Given the description of an element on the screen output the (x, y) to click on. 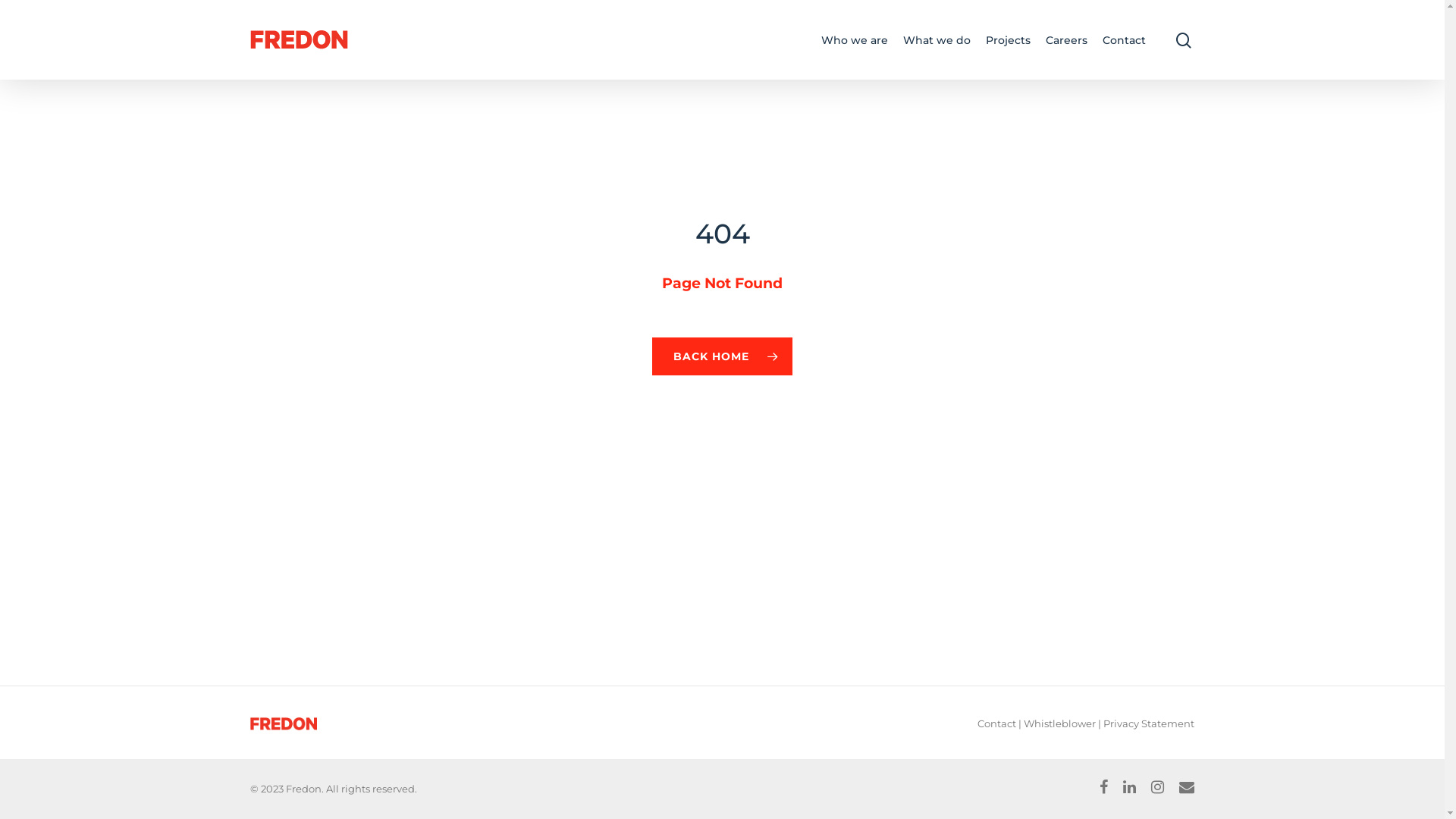
Contact Element type: text (996, 723)
Projects Element type: text (1007, 39)
What we do Element type: text (936, 39)
Contact Element type: text (1123, 39)
Whistleblower Element type: text (1059, 723)
BACK HOME Element type: text (722, 356)
Careers Element type: text (1066, 39)
Privacy Statement Element type: text (1148, 723)
Who we are Element type: text (854, 39)
